Given the description of an element on the screen output the (x, y) to click on. 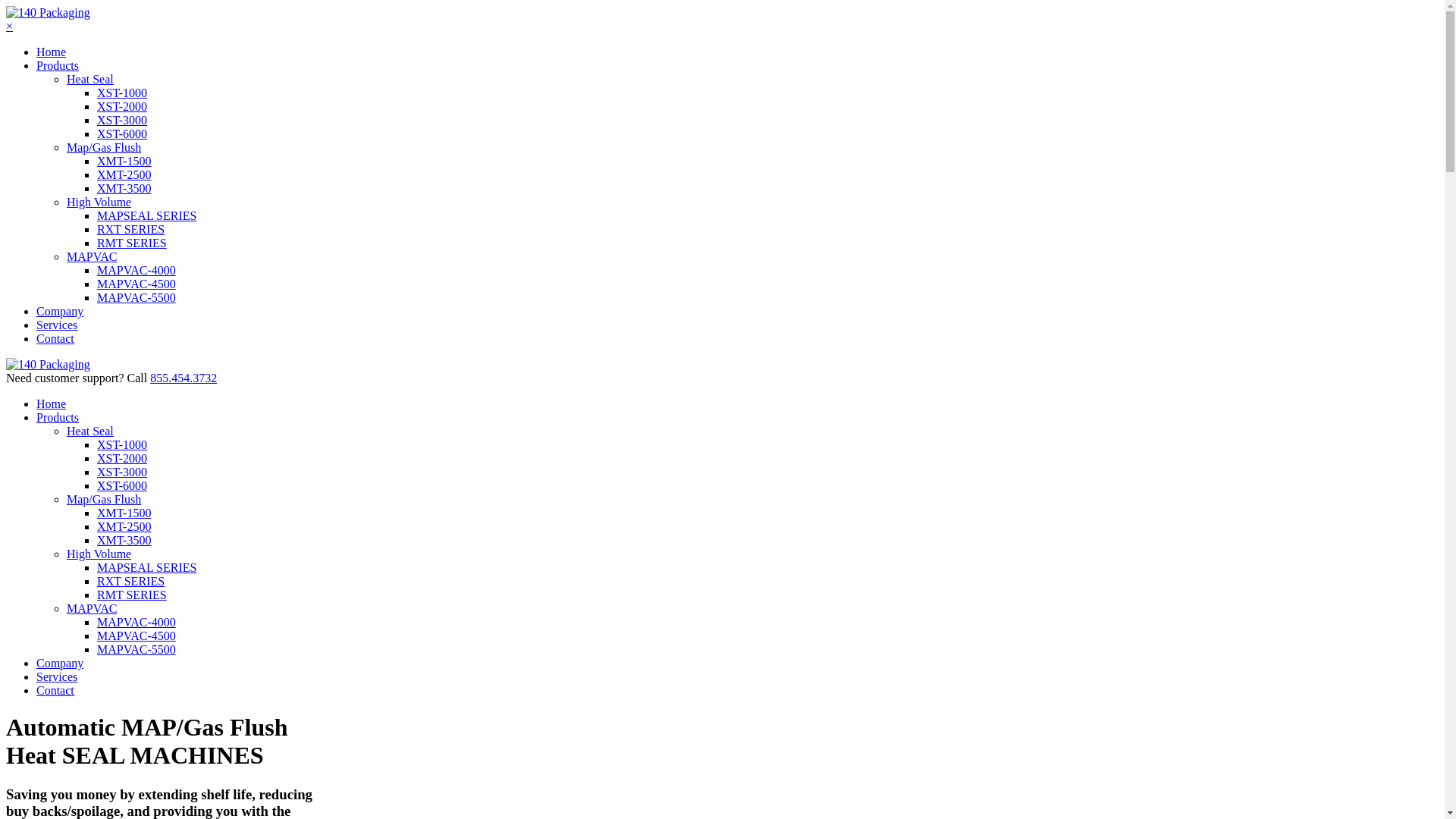
MAPVAC Element type: text (91, 256)
XMT-1500 Element type: text (123, 512)
MAPSEAL SERIES Element type: text (146, 567)
MAPVAC-4000 Element type: text (136, 269)
XST-6000 Element type: text (122, 485)
XMT-2500 Element type: text (123, 174)
XST-6000 Element type: text (122, 133)
XST-1000 Element type: text (122, 444)
MAPVAC-5500 Element type: text (136, 649)
RXT SERIES Element type: text (130, 580)
XST-2000 Element type: text (122, 457)
Map/Gas Flush Element type: text (103, 498)
Contact Element type: text (55, 690)
RMT SERIES Element type: text (131, 242)
MAPVAC-4500 Element type: text (136, 283)
Home Element type: text (50, 51)
XST-2000 Element type: text (122, 106)
Company Element type: text (59, 662)
MAPSEAL SERIES Element type: text (146, 215)
MAPVAC-5500 Element type: text (136, 297)
XMT-1500 Element type: text (123, 160)
High Volume Element type: text (98, 553)
XST-3000 Element type: text (122, 471)
High Volume Element type: text (98, 201)
Company Element type: text (59, 310)
855.454.3732 Element type: text (183, 377)
Products Element type: text (57, 417)
Home Element type: text (50, 403)
XMT-3500 Element type: text (123, 539)
Products Element type: text (57, 65)
Services Element type: text (56, 324)
RXT SERIES Element type: text (130, 228)
XMT-3500 Element type: text (123, 188)
Contact Element type: text (55, 338)
XST-1000 Element type: text (122, 92)
Map/Gas Flush Element type: text (103, 147)
Heat Seal Element type: text (89, 430)
MAPVAC-4500 Element type: text (136, 635)
Services Element type: text (56, 676)
XST-3000 Element type: text (122, 119)
MAPVAC Element type: text (91, 608)
XMT-2500 Element type: text (123, 526)
Heat Seal Element type: text (89, 78)
RMT SERIES Element type: text (131, 594)
MAPVAC-4000 Element type: text (136, 621)
